Given the description of an element on the screen output the (x, y) to click on. 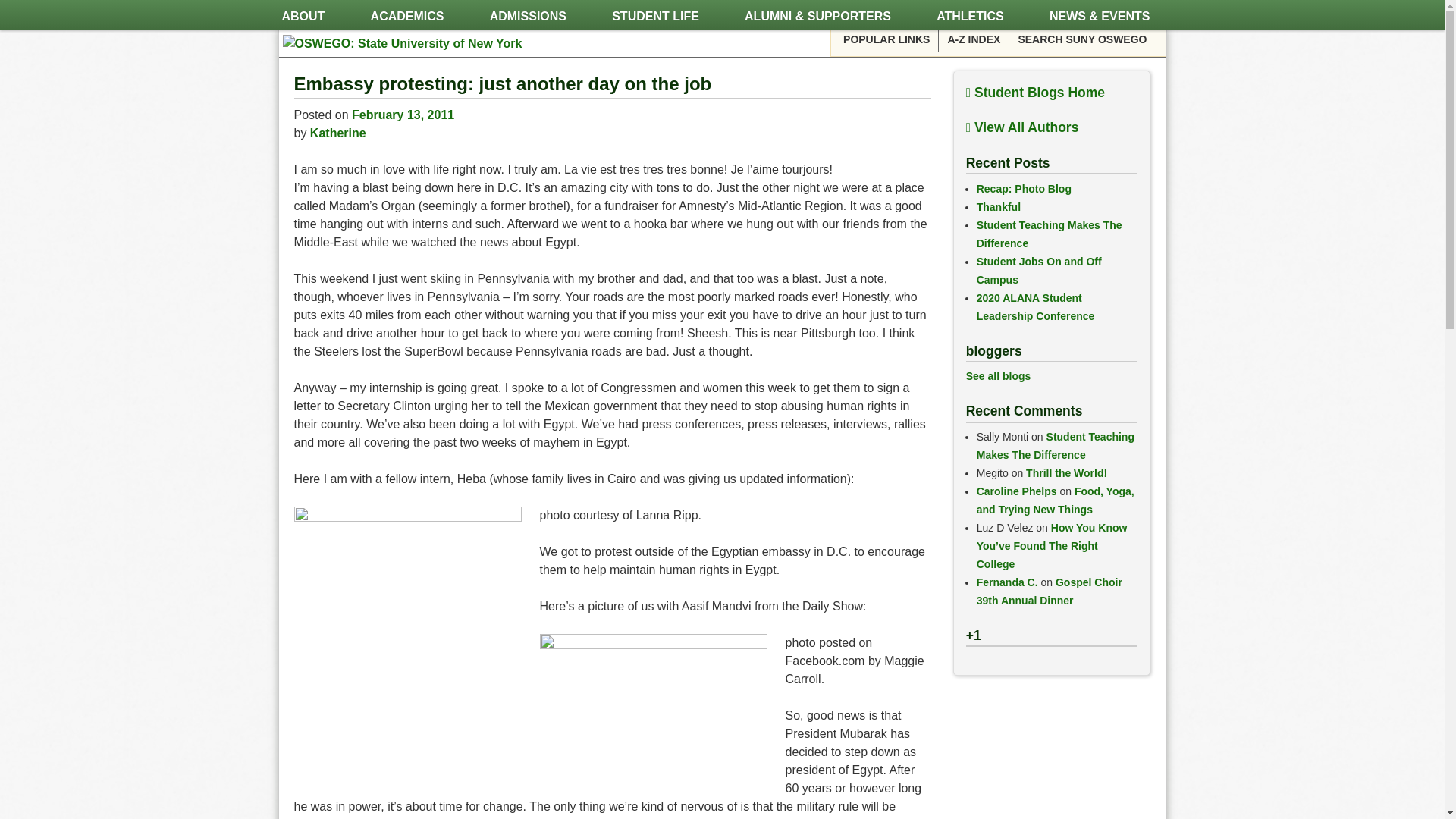
Katherine (338, 132)
Student Blogs Home (1035, 92)
SEARCH SUNY OSWEGO (1081, 38)
View all posts by Katherine (338, 132)
Recap: Photo Blog (1023, 188)
ADMISSIONS (527, 17)
10:28 pm (403, 114)
Thankful (998, 206)
View All Authors (1022, 127)
February 13, 2011 (403, 114)
